Given the description of an element on the screen output the (x, y) to click on. 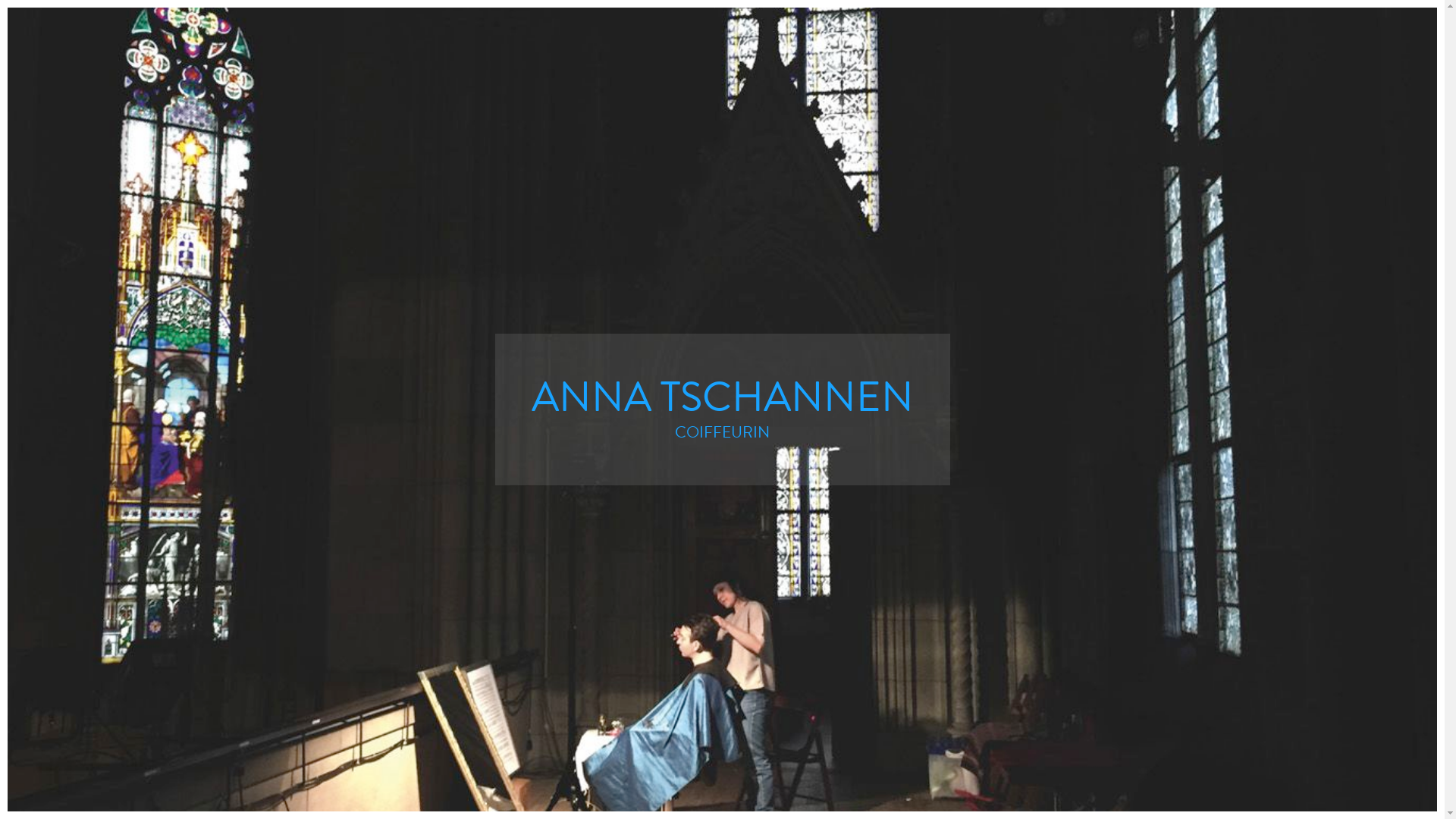
TEXTE Element type: text (574, 169)
NEWS Element type: text (511, 169)
PERFORMANCE Element type: text (819, 169)
HOME Element type: text (448, 169)
HAARE SCHNEIDEN Element type: text (679, 169)
allyou.net Element type: text (1420, 807)
ANNA Element type: text (914, 169)
ANNA TSCHANNEN Element type: text (722, 75)
KONTAKT Element type: text (986, 169)
